Given the description of an element on the screen output the (x, y) to click on. 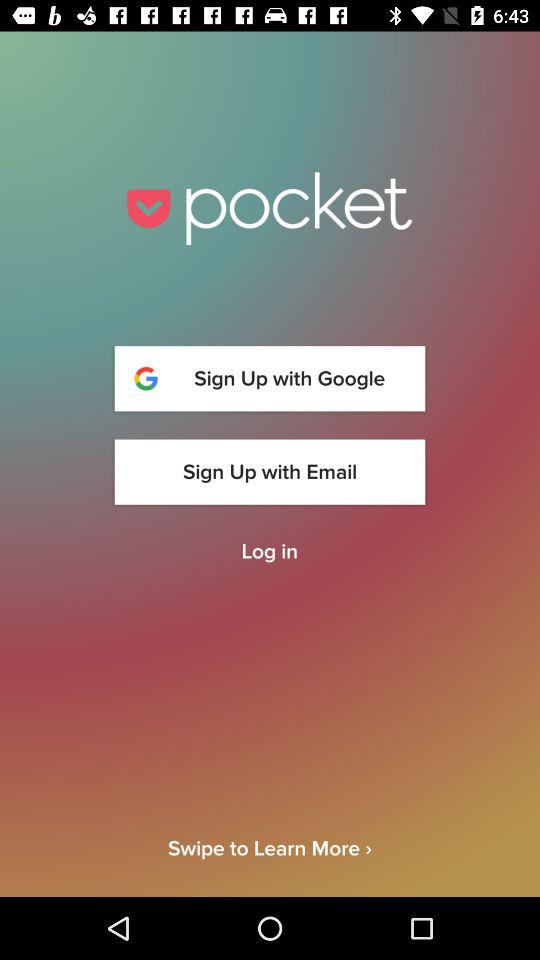
scroll until log in (269, 551)
